Given the description of an element on the screen output the (x, y) to click on. 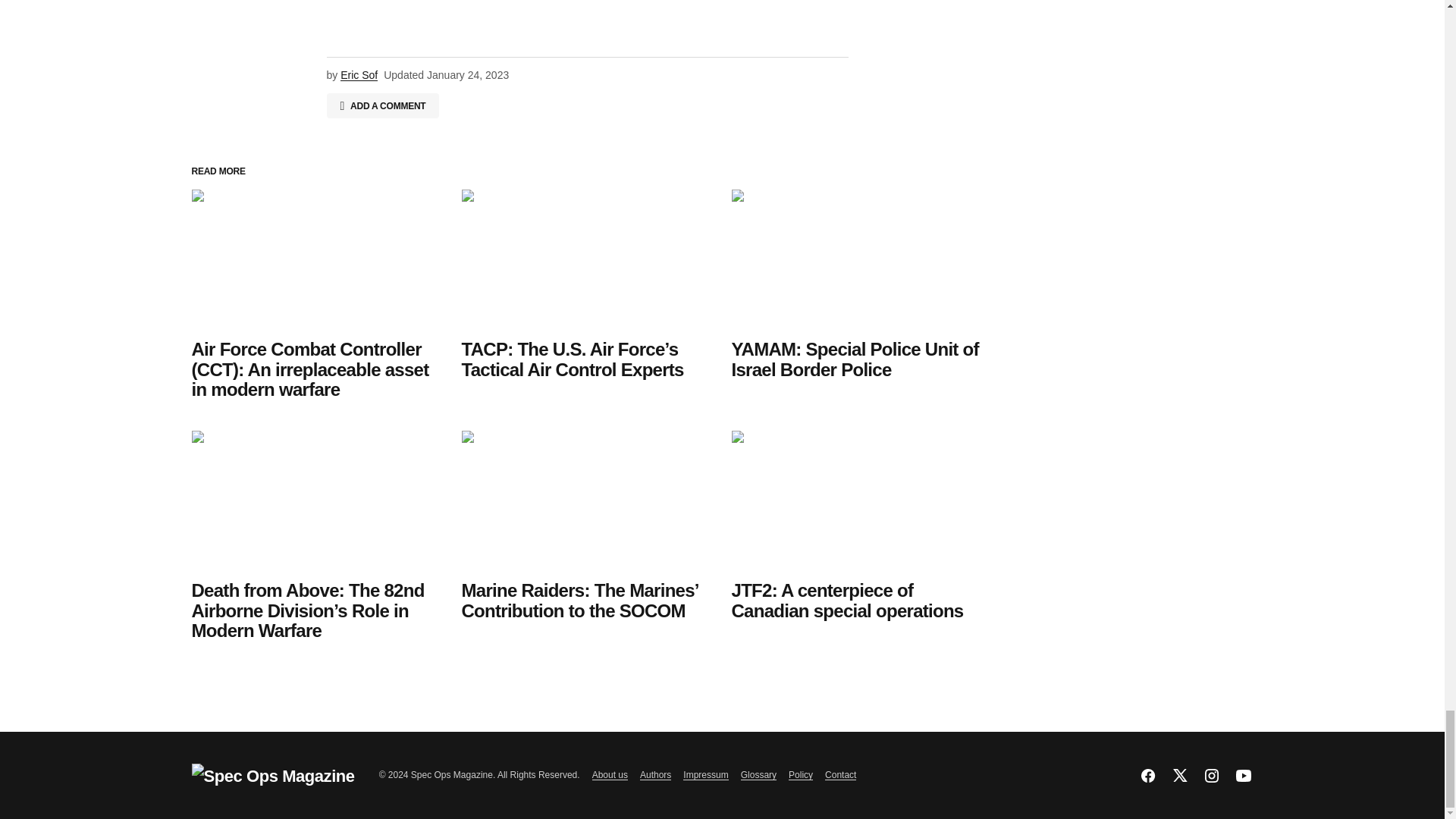
JTF2: A centerpiece of Canadian special operations (856, 501)
YAMAM: Special Police Unit of Israel Border Police (856, 260)
